Given the description of an element on the screen output the (x, y) to click on. 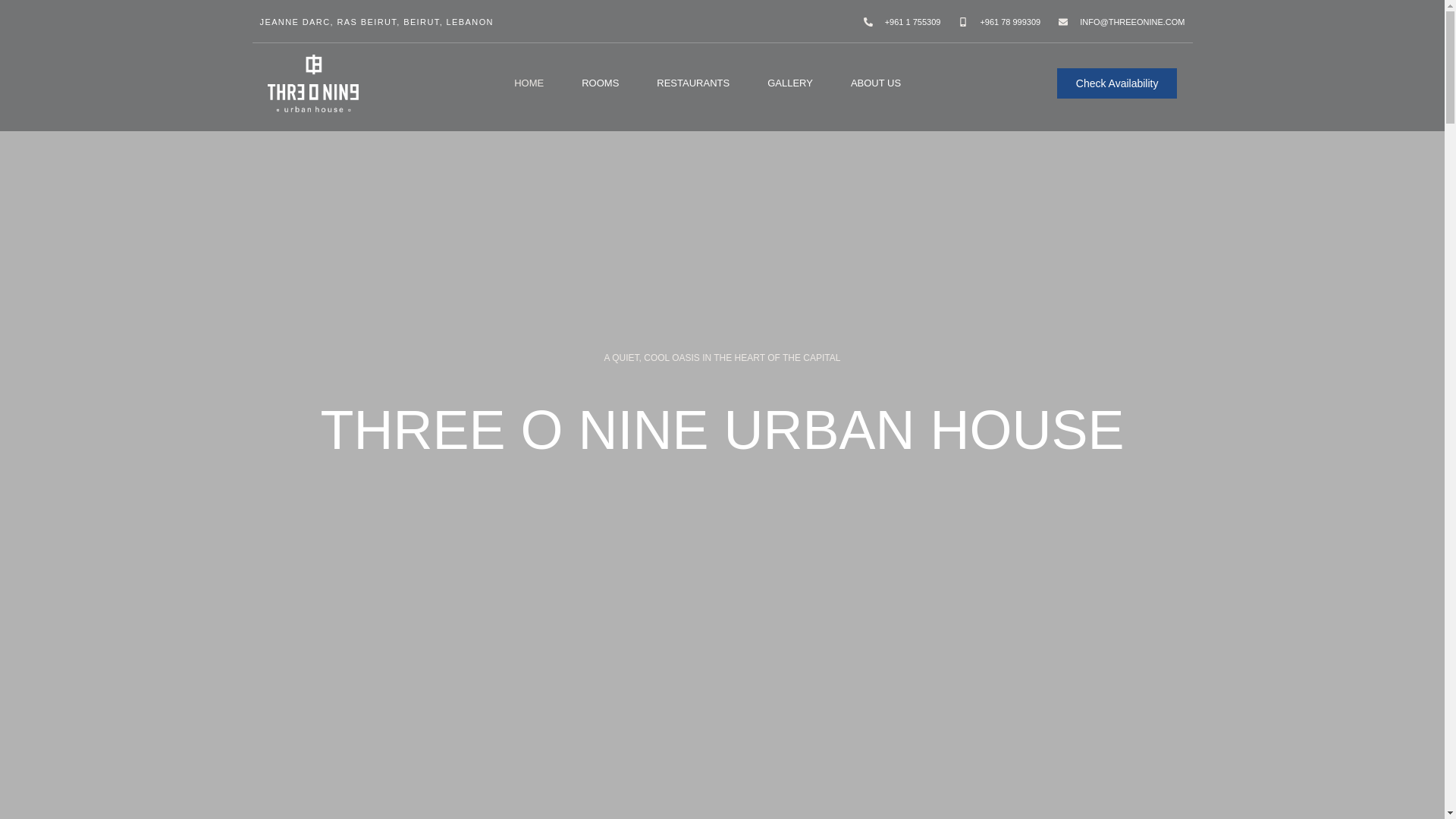
Check Availability (1117, 82)
GALLERY (789, 83)
RESTAURANTS (692, 83)
ABOUT US (875, 83)
